Given the description of an element on the screen output the (x, y) to click on. 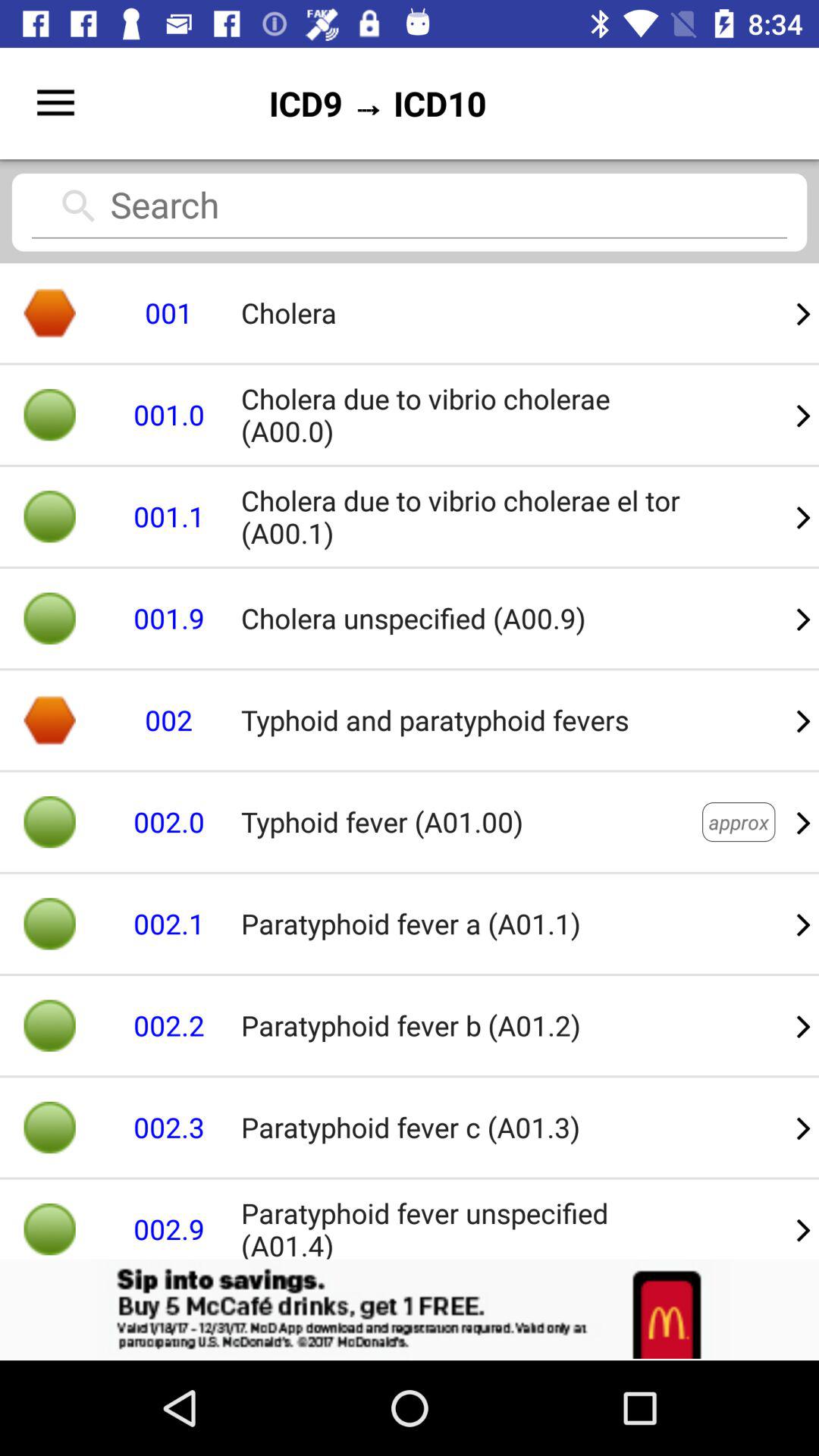
go back (409, 1309)
